Given the description of an element on the screen output the (x, y) to click on. 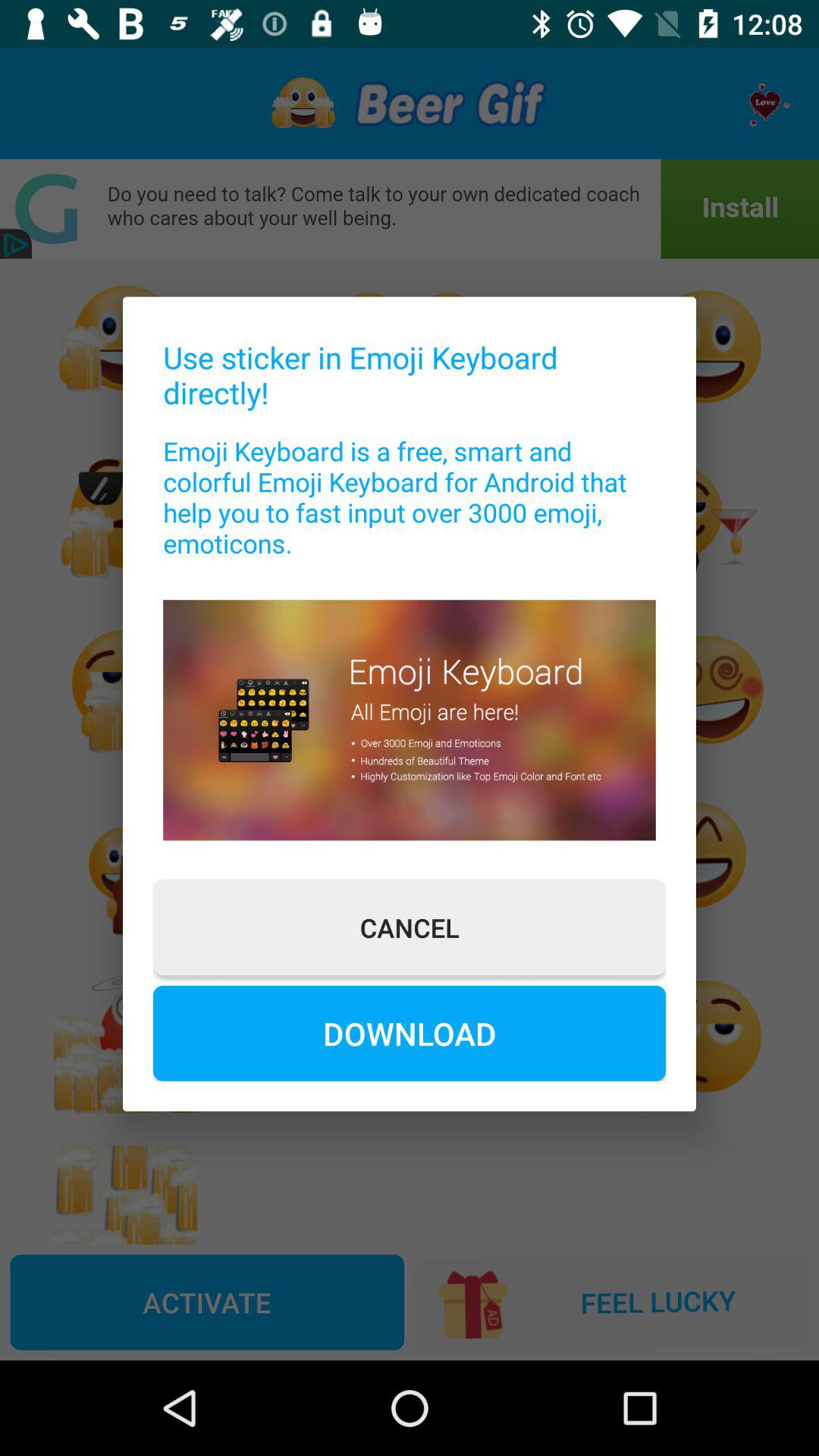
open download at the bottom (409, 1033)
